Given the description of an element on the screen output the (x, y) to click on. 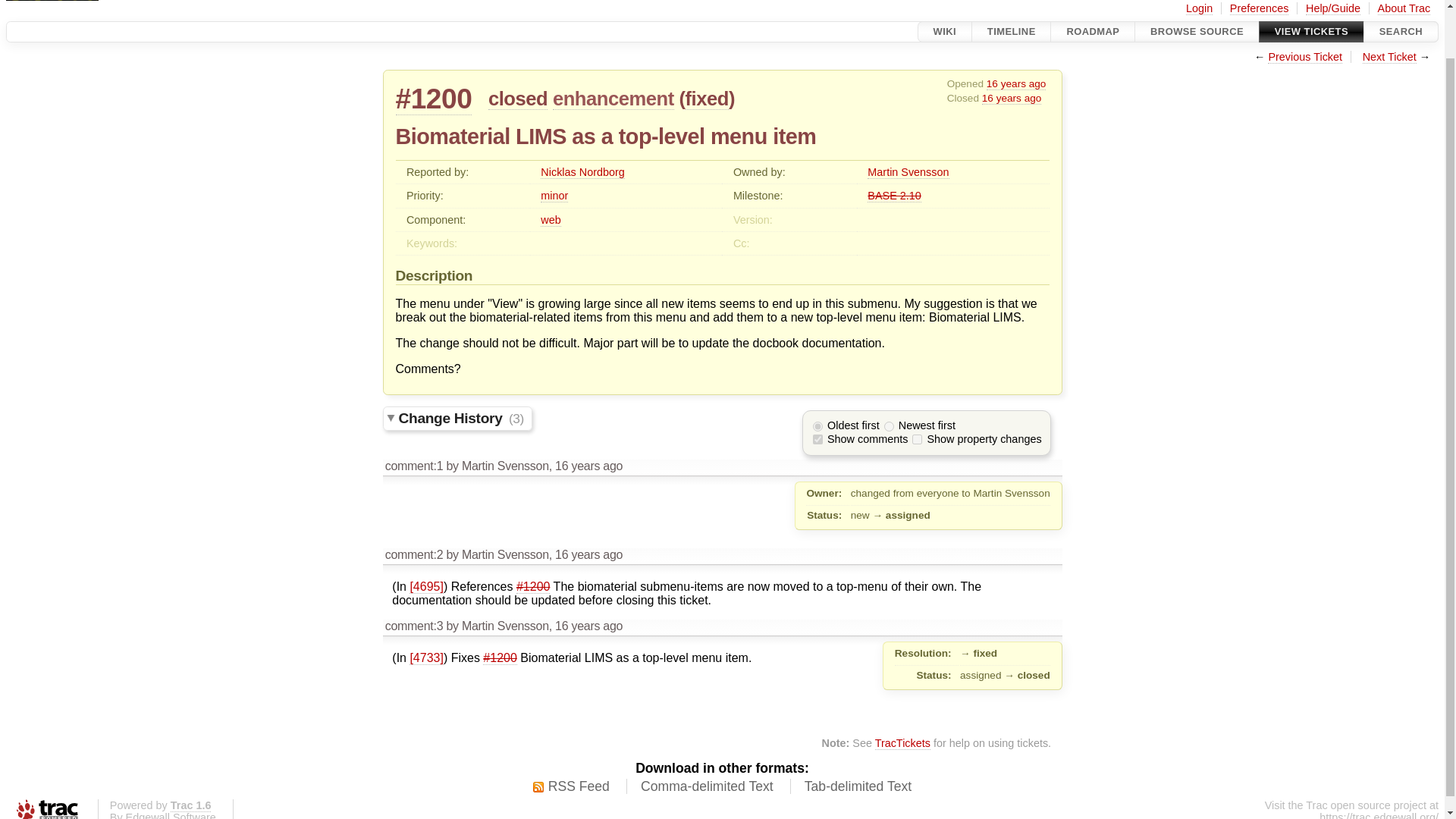
See timeline at Dec 9, 2008, 2:26:04 PM (588, 554)
enhancement (613, 98)
Comma-delimited Text (706, 786)
See timeline at Dec 9, 2008, 1:37:51 PM (588, 465)
ROADMAP (1092, 31)
16 years ago (1011, 98)
16 years ago (1016, 83)
About Trac (1404, 8)
web (550, 219)
Martin Svensson (908, 172)
